Given the description of an element on the screen output the (x, y) to click on. 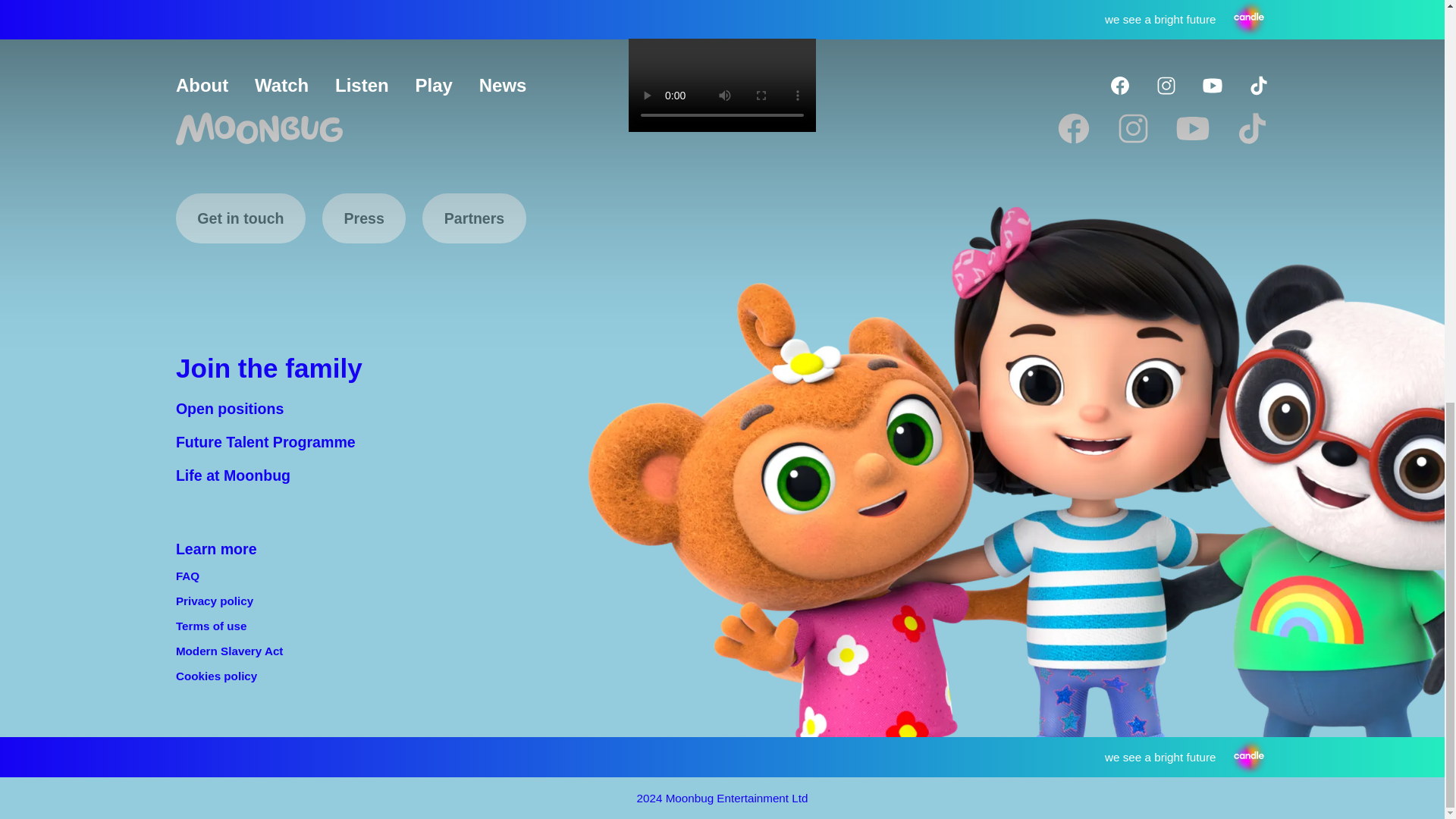
Terms of use (211, 626)
Future Talent Programme (265, 442)
Privacy policy (214, 601)
Open positions (229, 408)
Get in touch (240, 218)
Press (363, 218)
Life at Moonbug (232, 475)
FAQ (187, 575)
Modern Slavery Act (229, 651)
Partners (473, 218)
Cookies policy (216, 676)
